Given the description of an element on the screen output the (x, y) to click on. 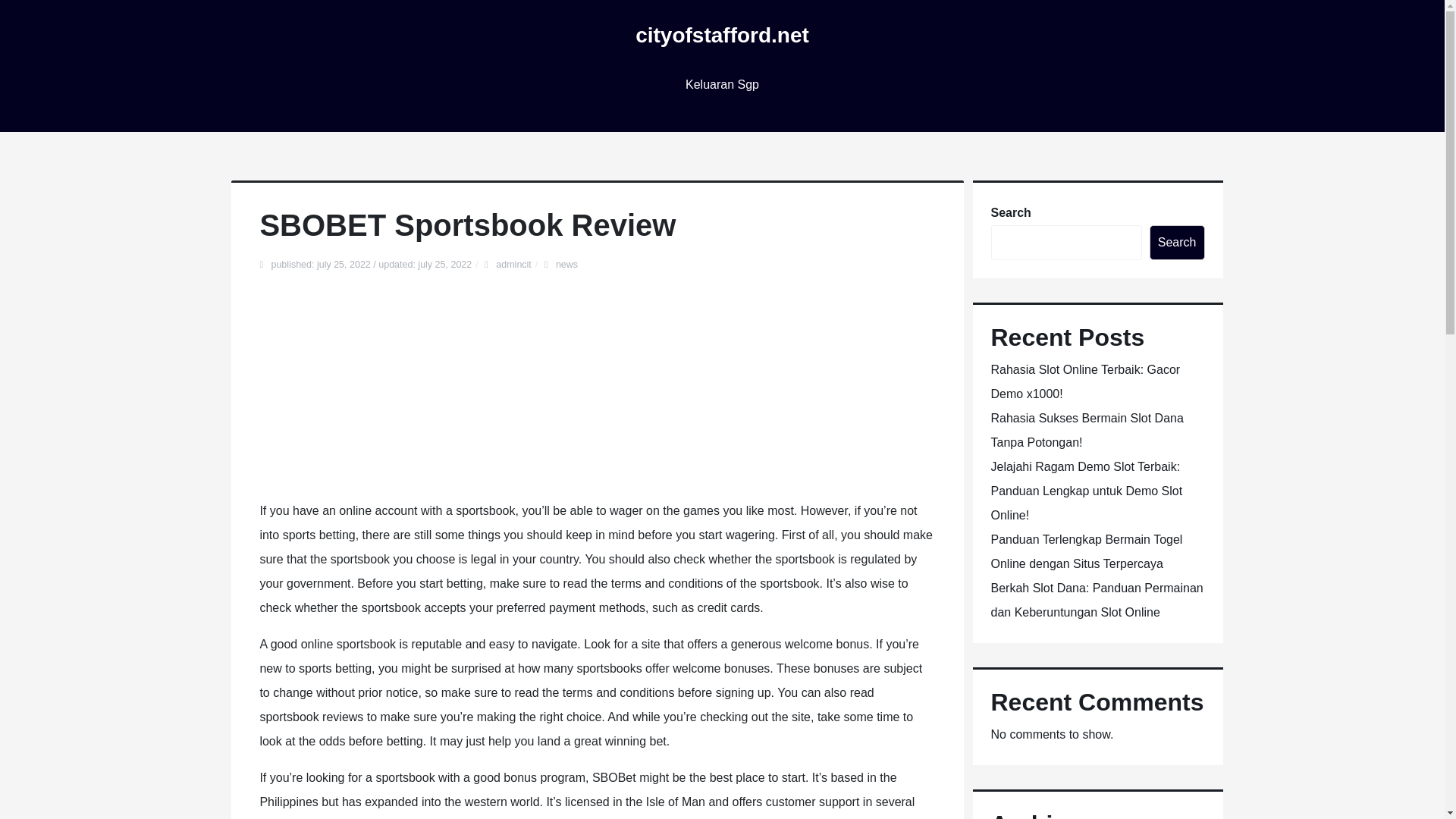
Rahasia Slot Online Terbaik: Gacor Demo x1000! (1084, 381)
Keluaran Sgp (722, 84)
admincit (513, 264)
Search (1177, 242)
Keluaran Sgp (722, 84)
cityofstafford.net (721, 34)
news (567, 264)
Rahasia Sukses Bermain Slot Dana Tanpa Potongan! (1086, 429)
